Given the description of an element on the screen output the (x, y) to click on. 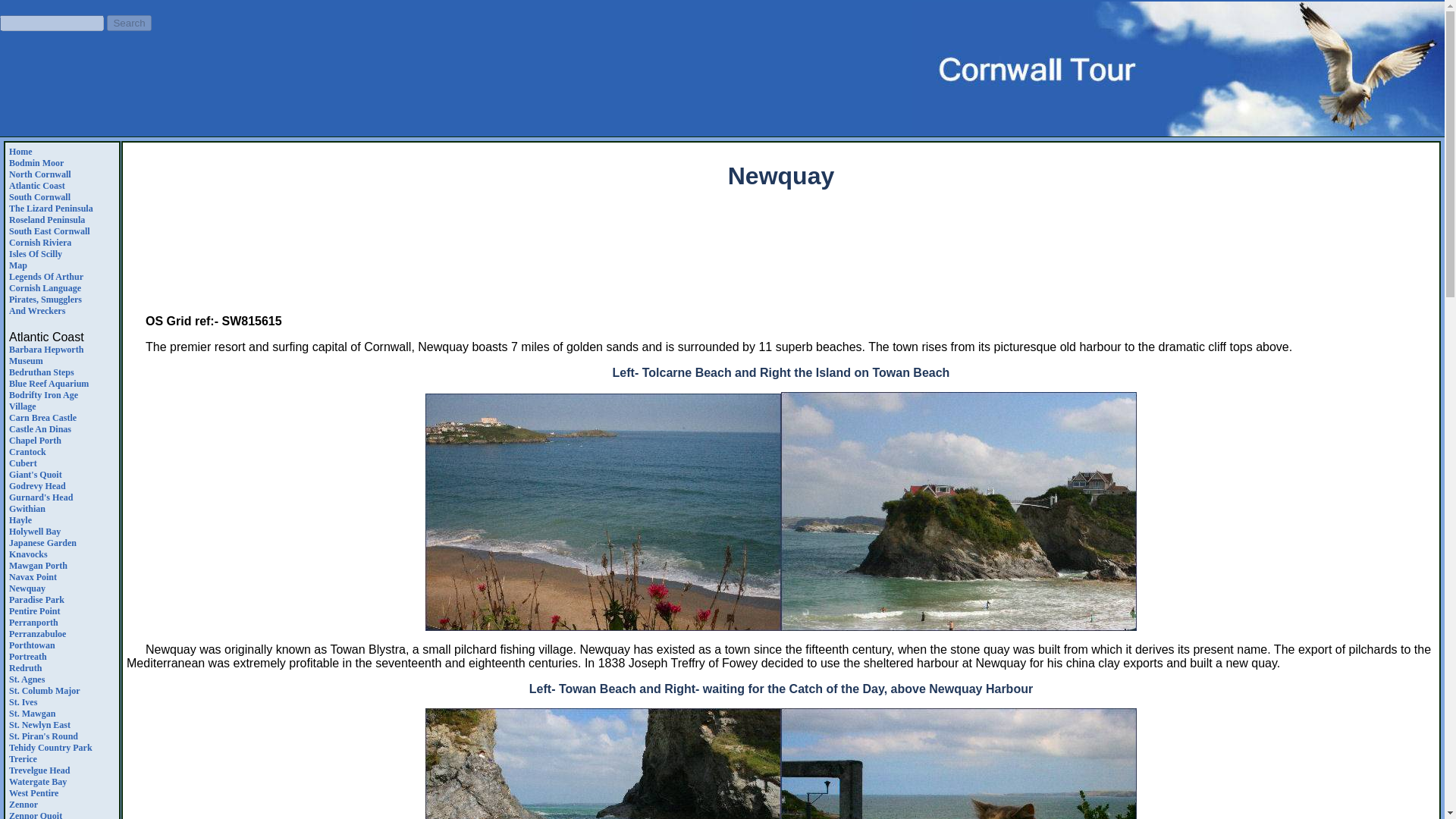
North Cornwall (44, 305)
Mawgan Porth (39, 173)
Perranporth (37, 565)
Home (33, 622)
Roseland Peninsula (43, 400)
Bodmin Moor (20, 151)
Advertisement (46, 219)
Cubert (36, 163)
Blue Reef Aquarium (781, 268)
Map (22, 462)
Paradise Park (48, 383)
Giant'S Quoit (17, 265)
Perranzabuloe (36, 599)
